Given the description of an element on the screen output the (x, y) to click on. 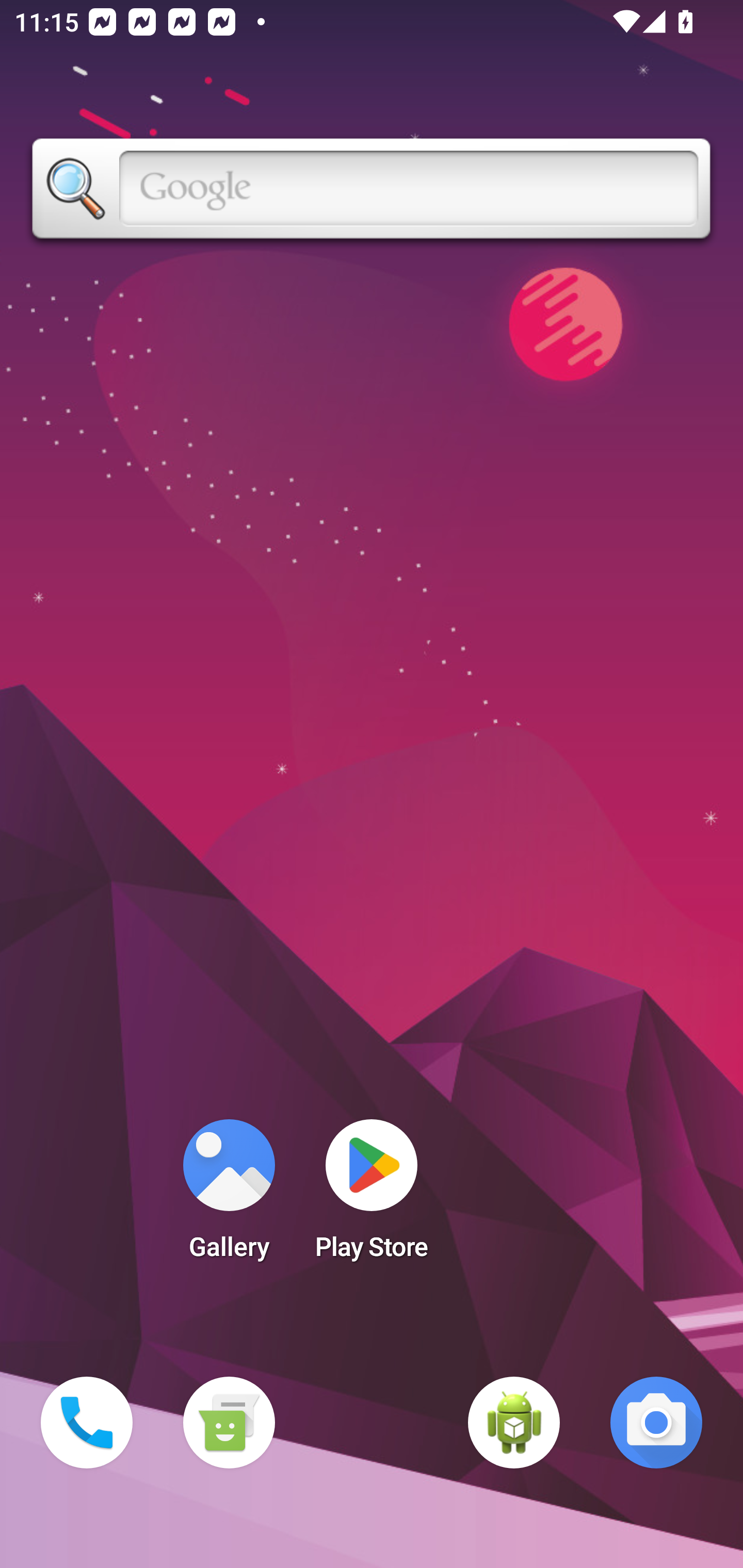
Gallery (228, 1195)
Play Store (371, 1195)
Phone (86, 1422)
Messaging (228, 1422)
WebView Browser Tester (513, 1422)
Camera (656, 1422)
